Given the description of an element on the screen output the (x, y) to click on. 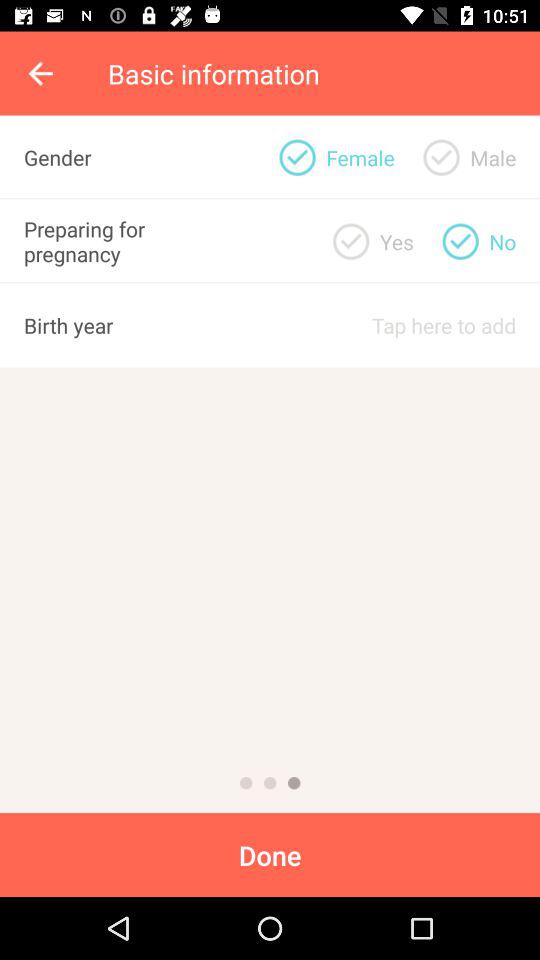
select item below the basic information icon (441, 157)
